Given the description of an element on the screen output the (x, y) to click on. 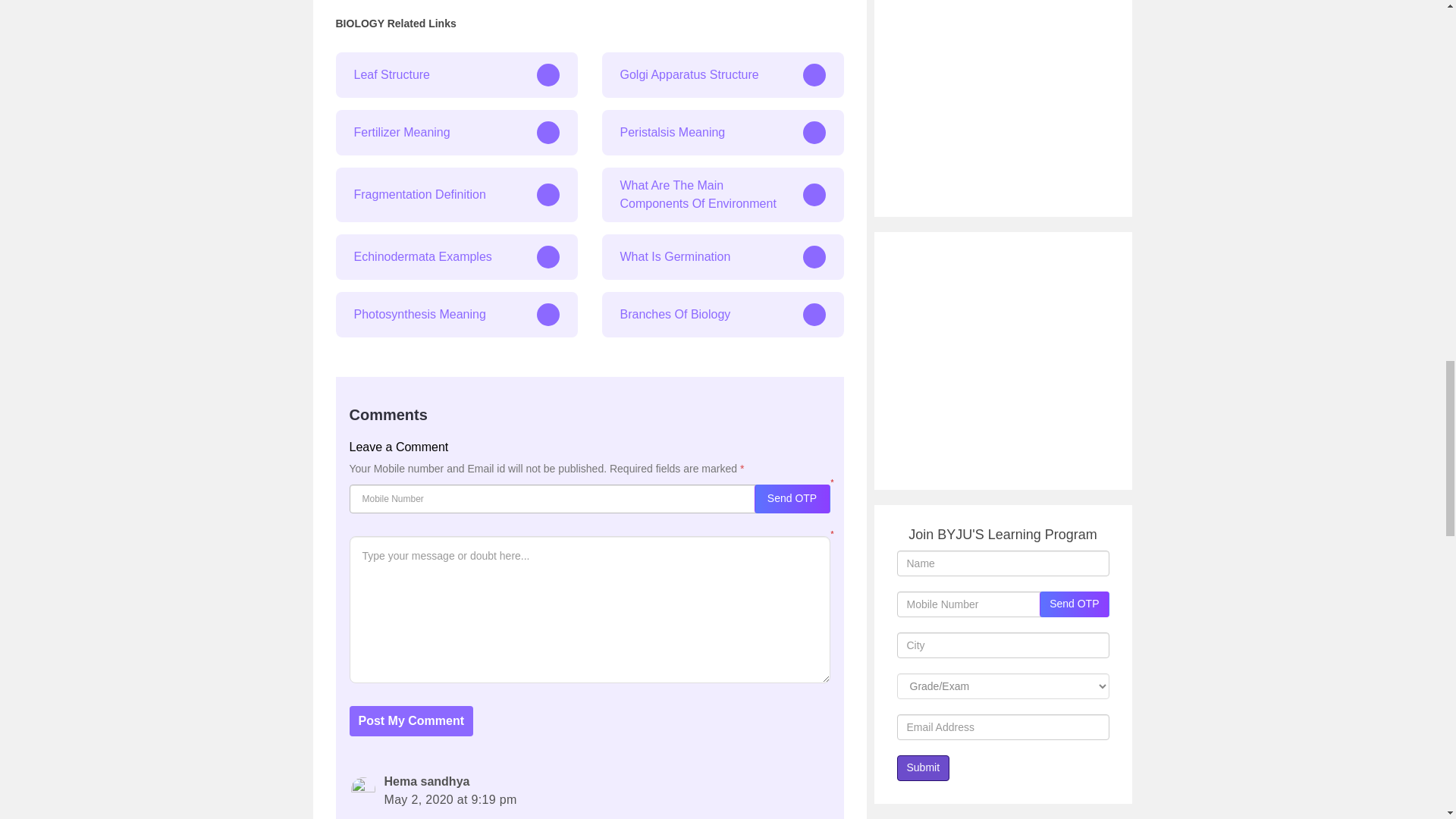
Fertilizer Meaning (455, 132)
Branches Of Biology (723, 314)
Fragmentation Definition (455, 194)
What Are The Main Components Of Environment (723, 194)
What Is Germination (723, 257)
Echinodermata Examples (455, 257)
Photosynthesis Meaning (455, 314)
Peristalsis Meaning (723, 132)
Leaf Structure (455, 74)
Golgi Apparatus Structure (723, 74)
